Given the description of an element on the screen output the (x, y) to click on. 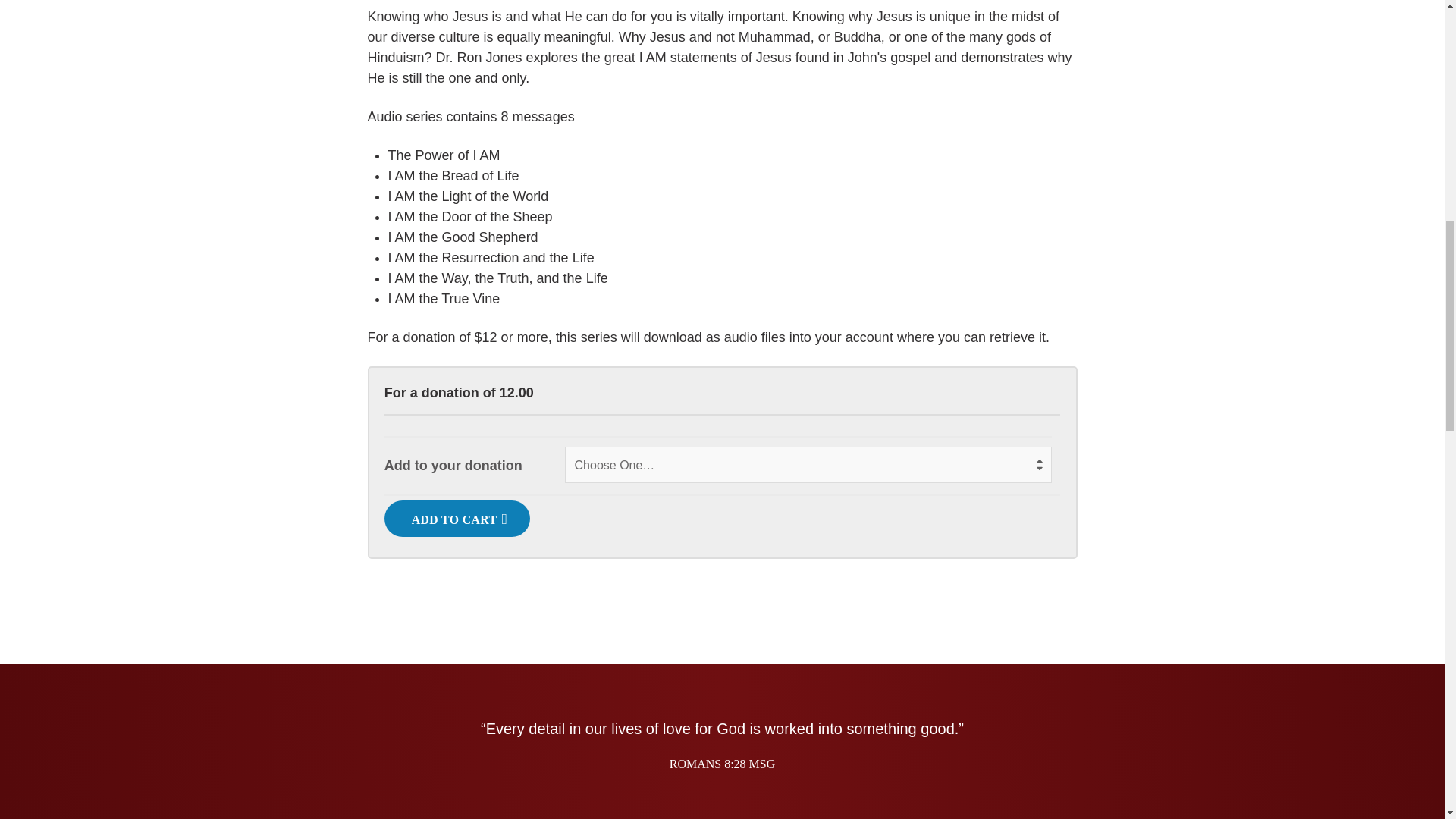
ADD TO CART (456, 518)
